Given the description of an element on the screen output the (x, y) to click on. 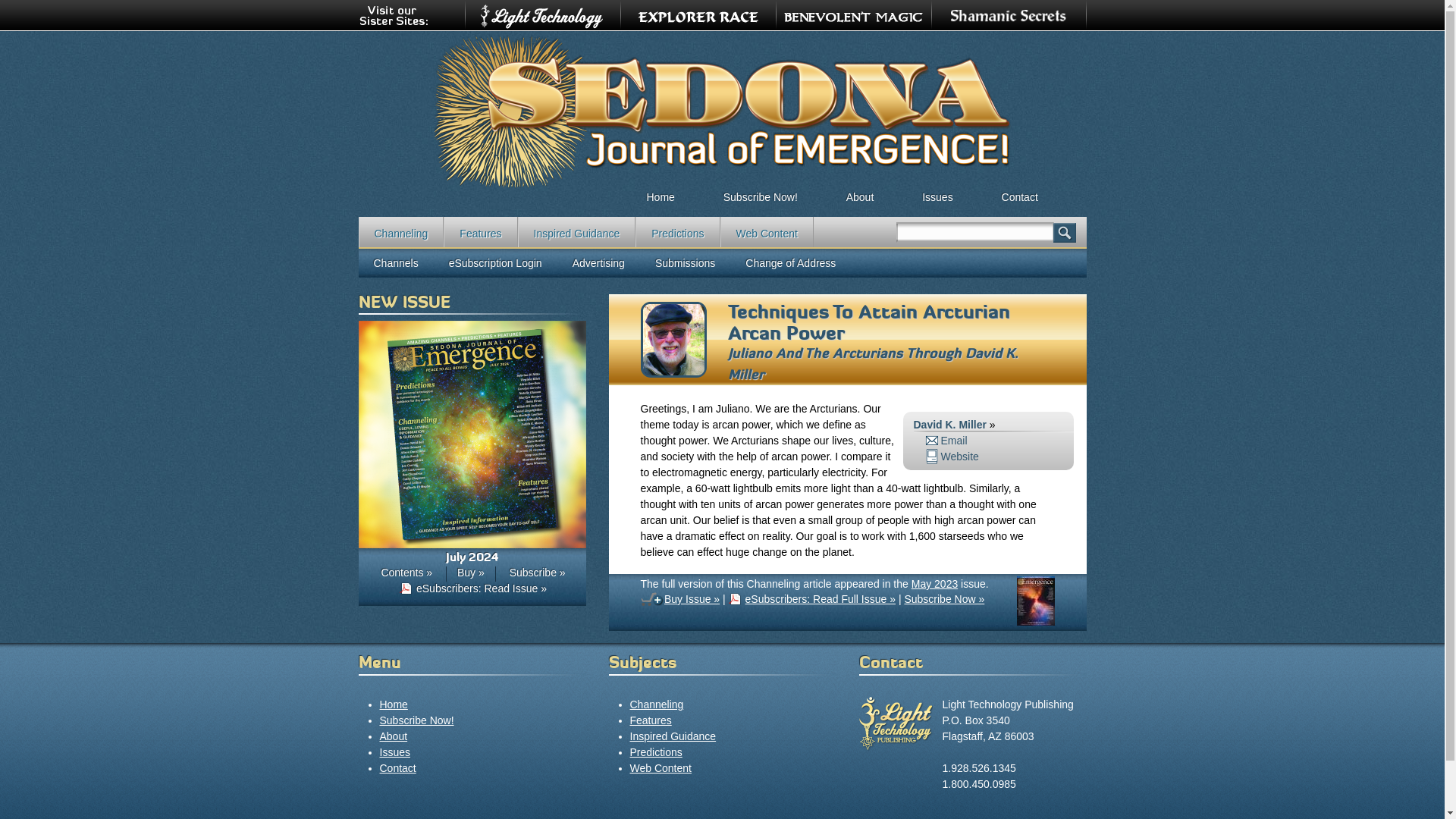
May 2023 (1035, 621)
Back Issues (937, 192)
Home (660, 192)
Predictions (676, 232)
Advertising (598, 262)
Features (480, 232)
May 2023 (934, 583)
Subscribe Now! (415, 720)
Channels (395, 262)
Issues (937, 192)
About (860, 192)
David K. Miller (948, 424)
Inspired Guidance (577, 232)
Enter the terms you wish to search for. (975, 231)
Email (944, 440)
